Given the description of an element on the screen output the (x, y) to click on. 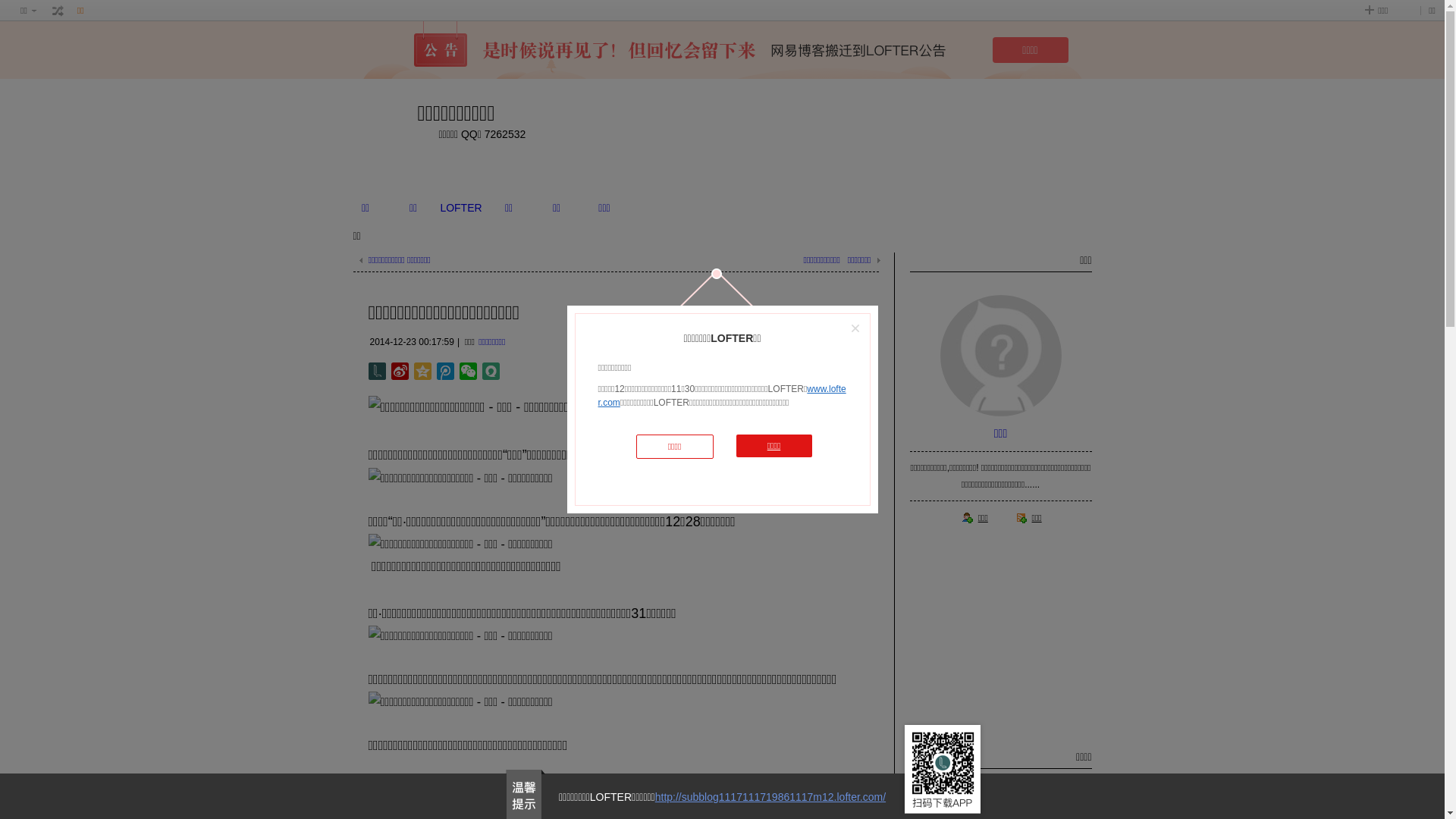
  Element type: text (58, 10)
www.lofter.com Element type: text (721, 395)
http://subblog1117111719861117m12.lofter.com/ Element type: text (770, 796)
LOFTER Element type: text (460, 207)
